Given the description of an element on the screen output the (x, y) to click on. 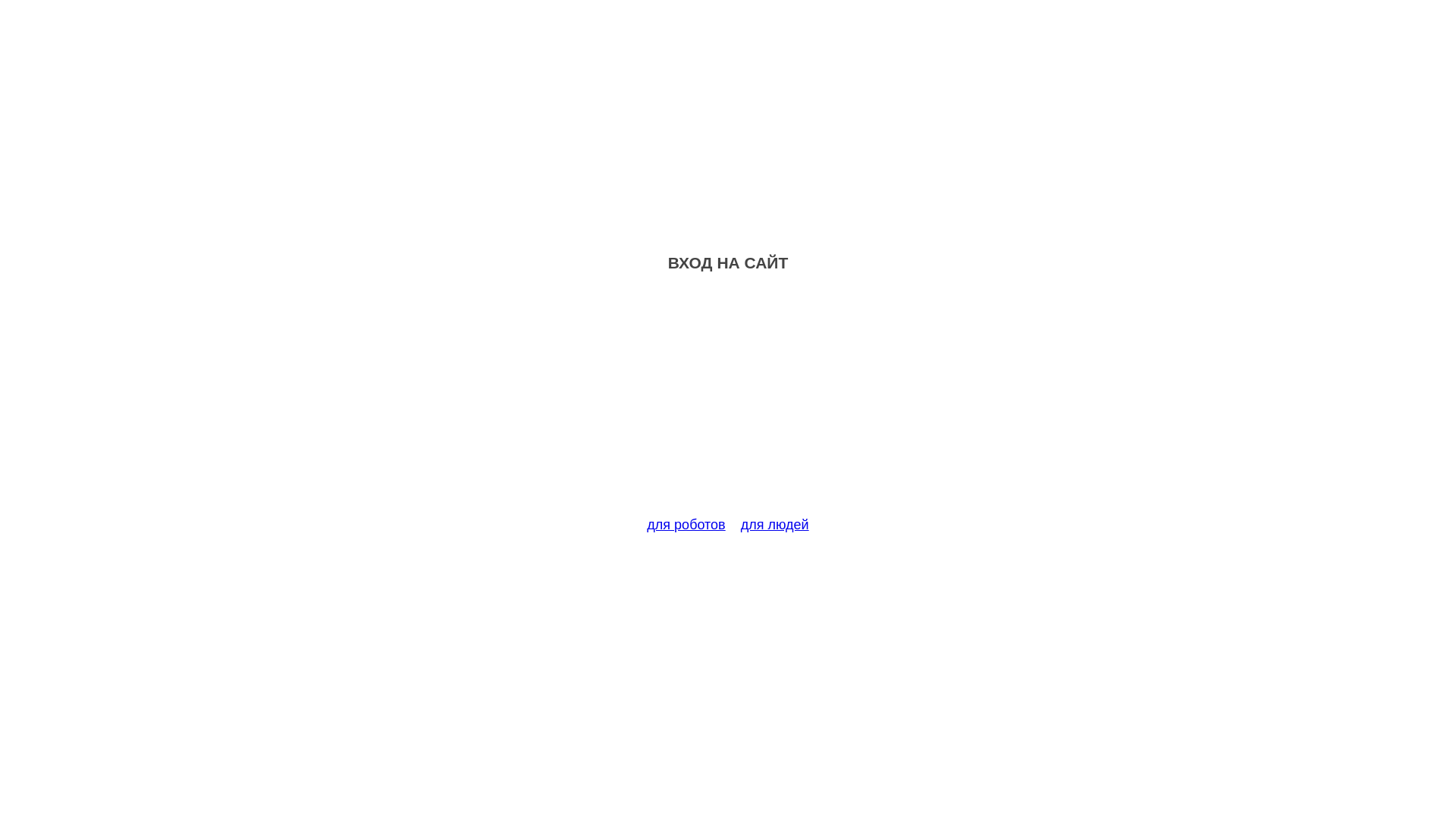
Advertisement Element type: hover (727, 403)
